Given the description of an element on the screen output the (x, y) to click on. 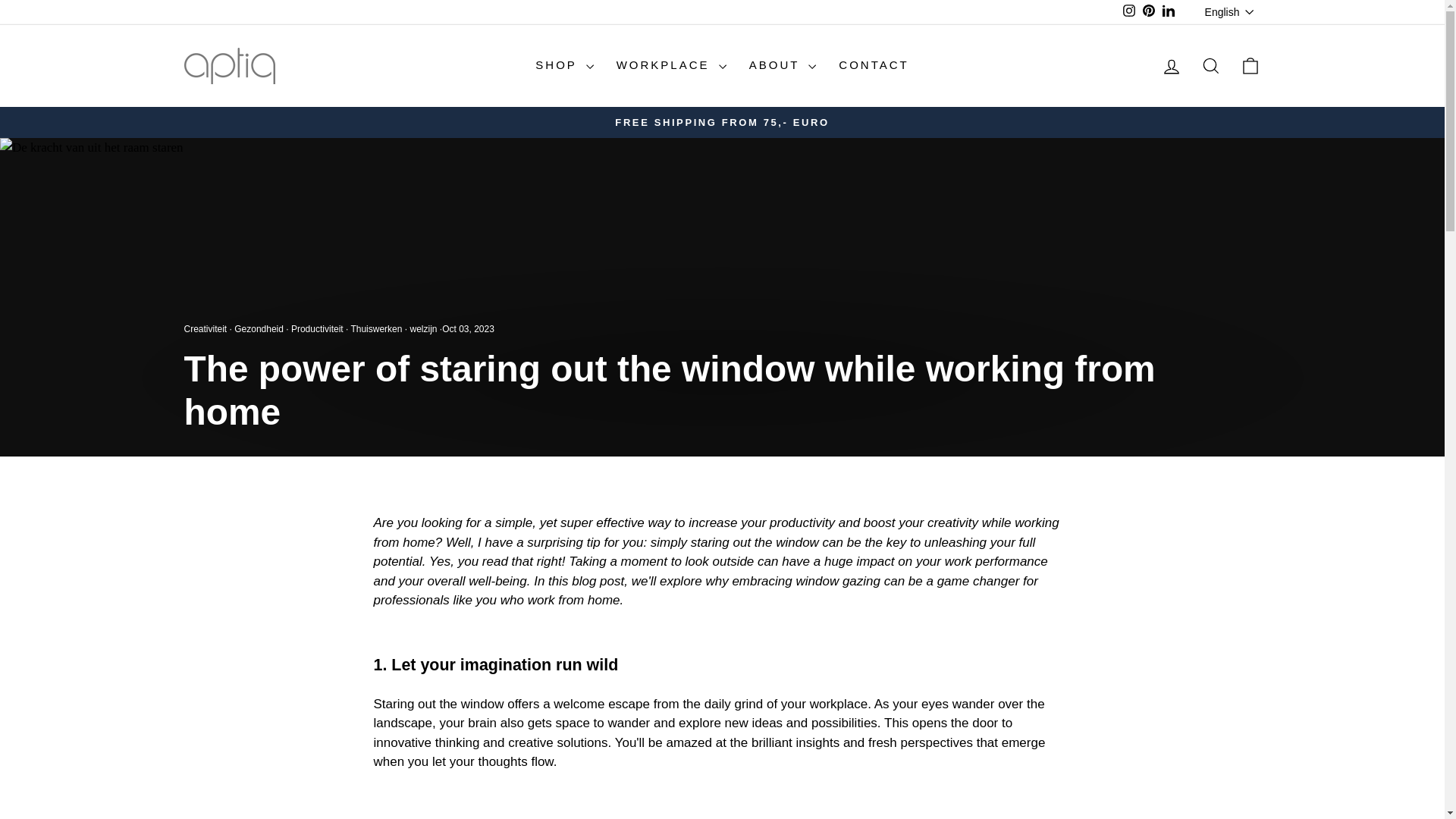
instagram (1128, 10)
ACCOUNT (1170, 66)
ICON-BAG-MINIMAL (1249, 65)
ICON-SEARCH (1210, 65)
